Given the description of an element on the screen output the (x, y) to click on. 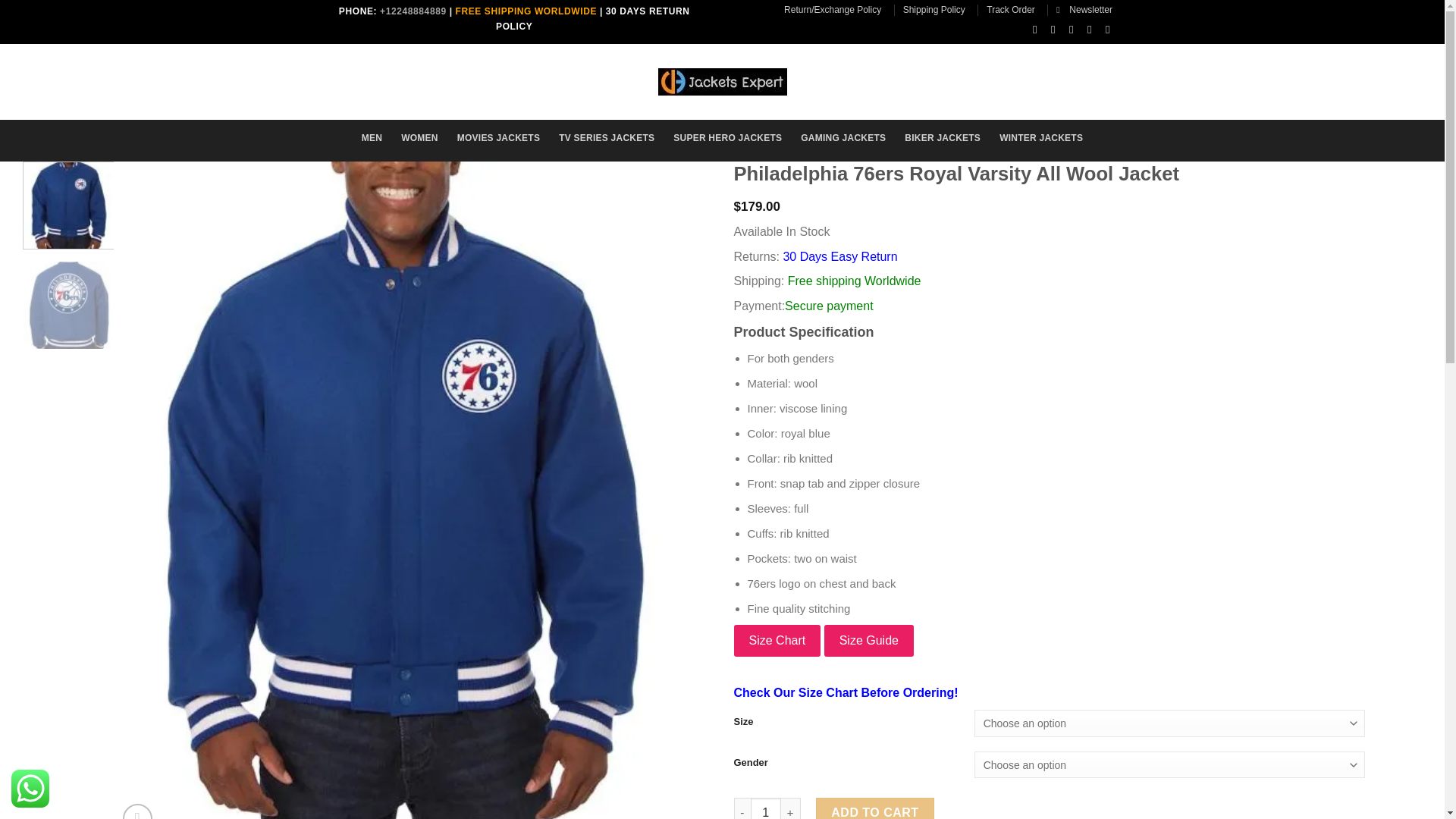
Shipping Policy (933, 9)
Track Order (1011, 9)
WINTER JACKETS (1040, 137)
LOGIN (971, 79)
GAMING JACKETS (842, 137)
Size Chart (777, 640)
TV SERIES JACKETS (606, 137)
BIKER JACKETS (941, 137)
1 (765, 808)
Qty (765, 808)
Newsletter (1084, 9)
Jackets Expert (721, 81)
Sign up for Newsletter (1084, 9)
Search (411, 76)
WOMEN (419, 137)
